Given the description of an element on the screen output the (x, y) to click on. 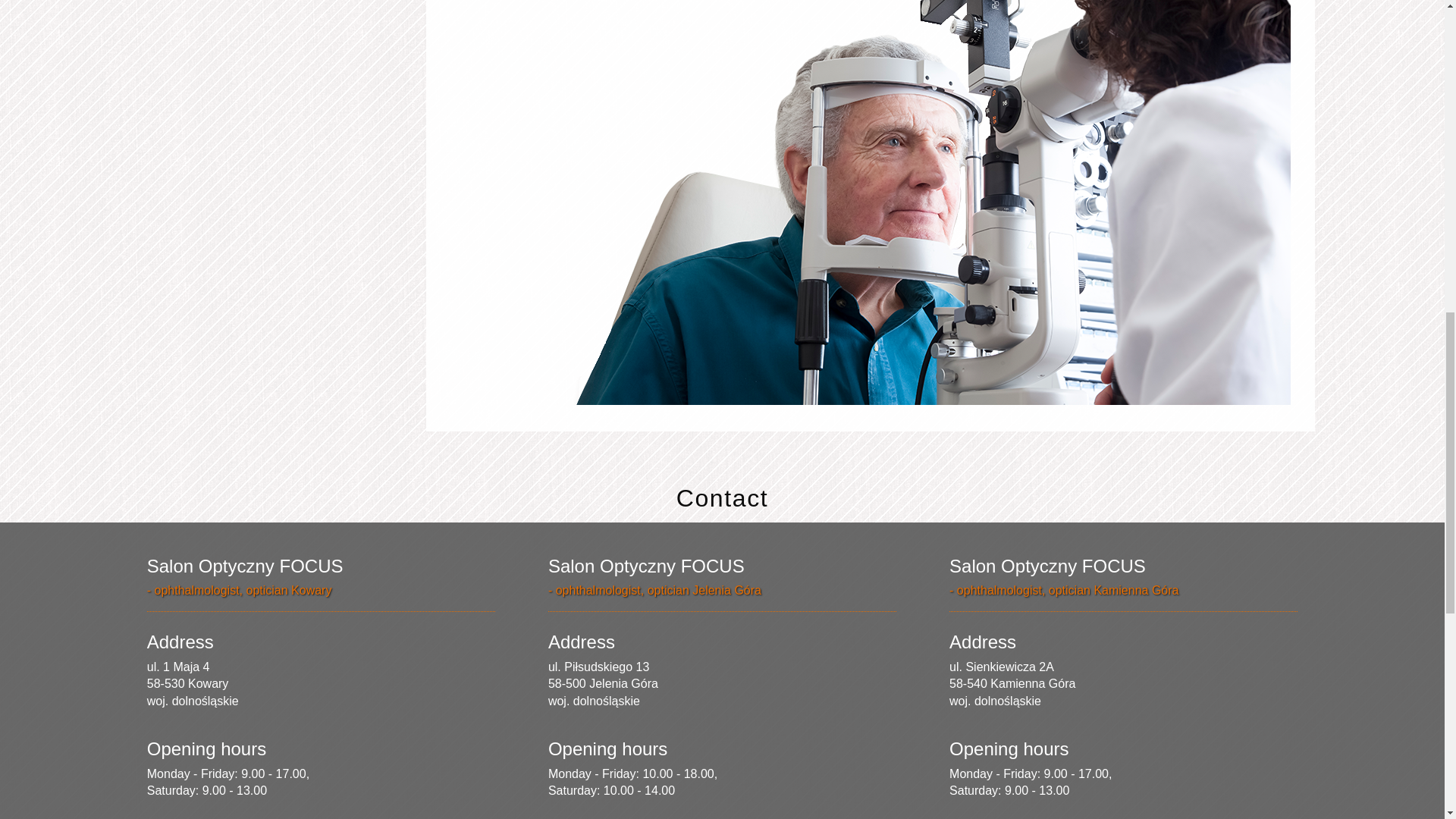
Contact (722, 497)
- ophthalmologist, optician Kowary (239, 590)
